Given the description of an element on the screen output the (x, y) to click on. 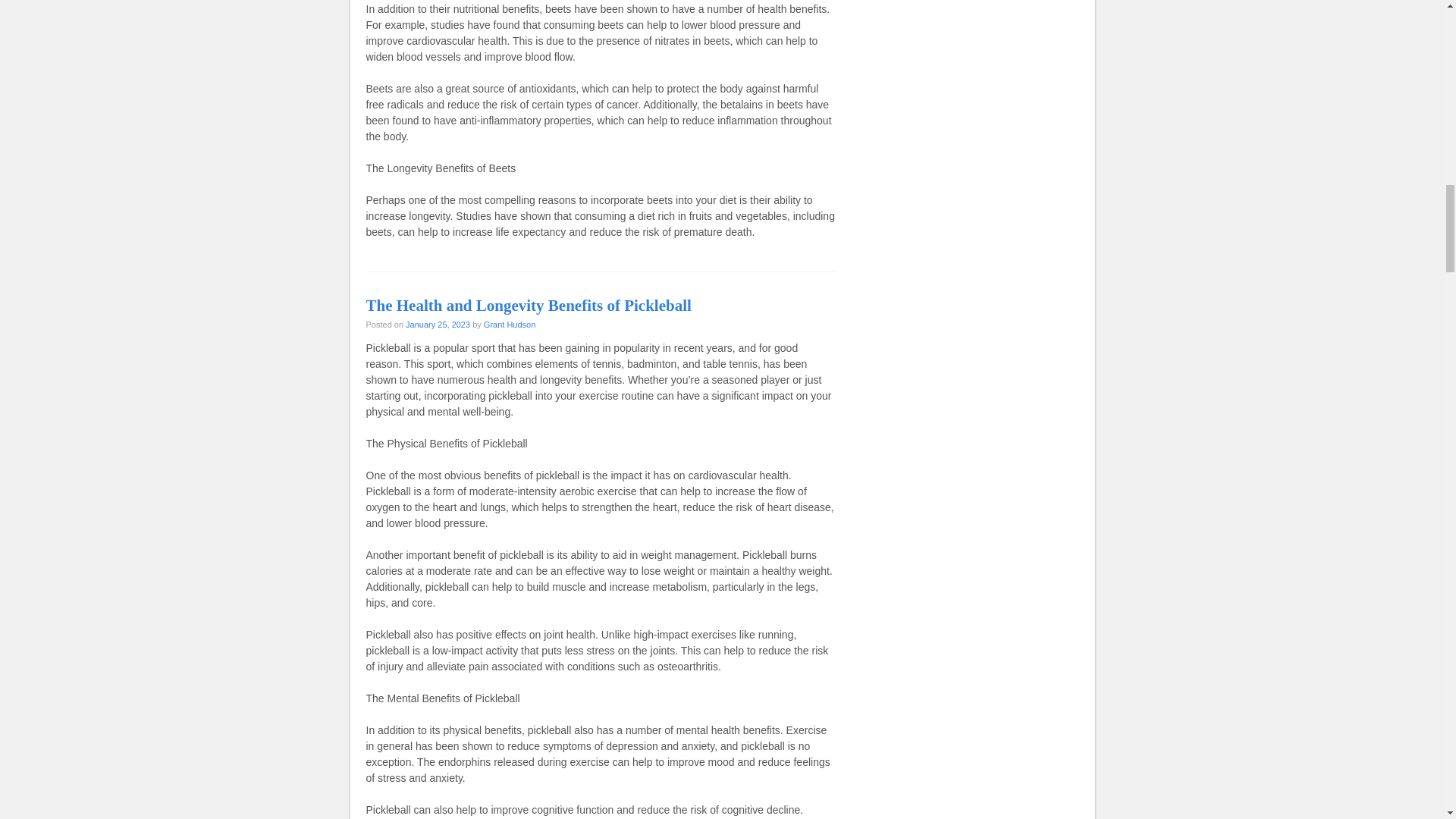
2:54 am (438, 324)
Grant Hudson (509, 324)
View all posts by Grant Hudson (509, 324)
The Health and Longevity Benefits of Pickleball (527, 305)
January 25, 2023 (438, 324)
Permalink to The Health and Longevity Benefits of Pickleball (527, 305)
